Given the description of an element on the screen output the (x, y) to click on. 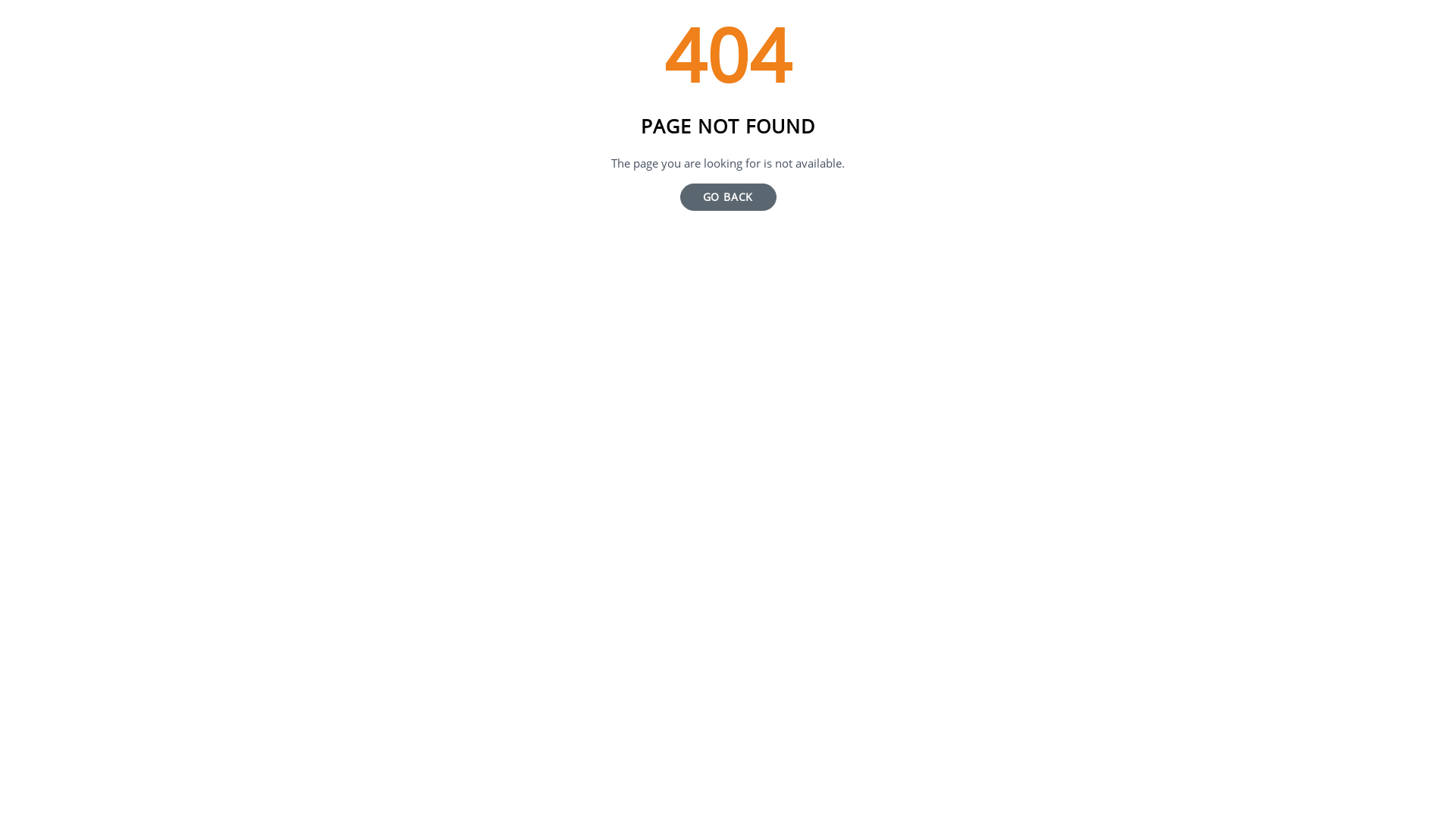
GO BACK Element type: text (727, 196)
